Given the description of an element on the screen output the (x, y) to click on. 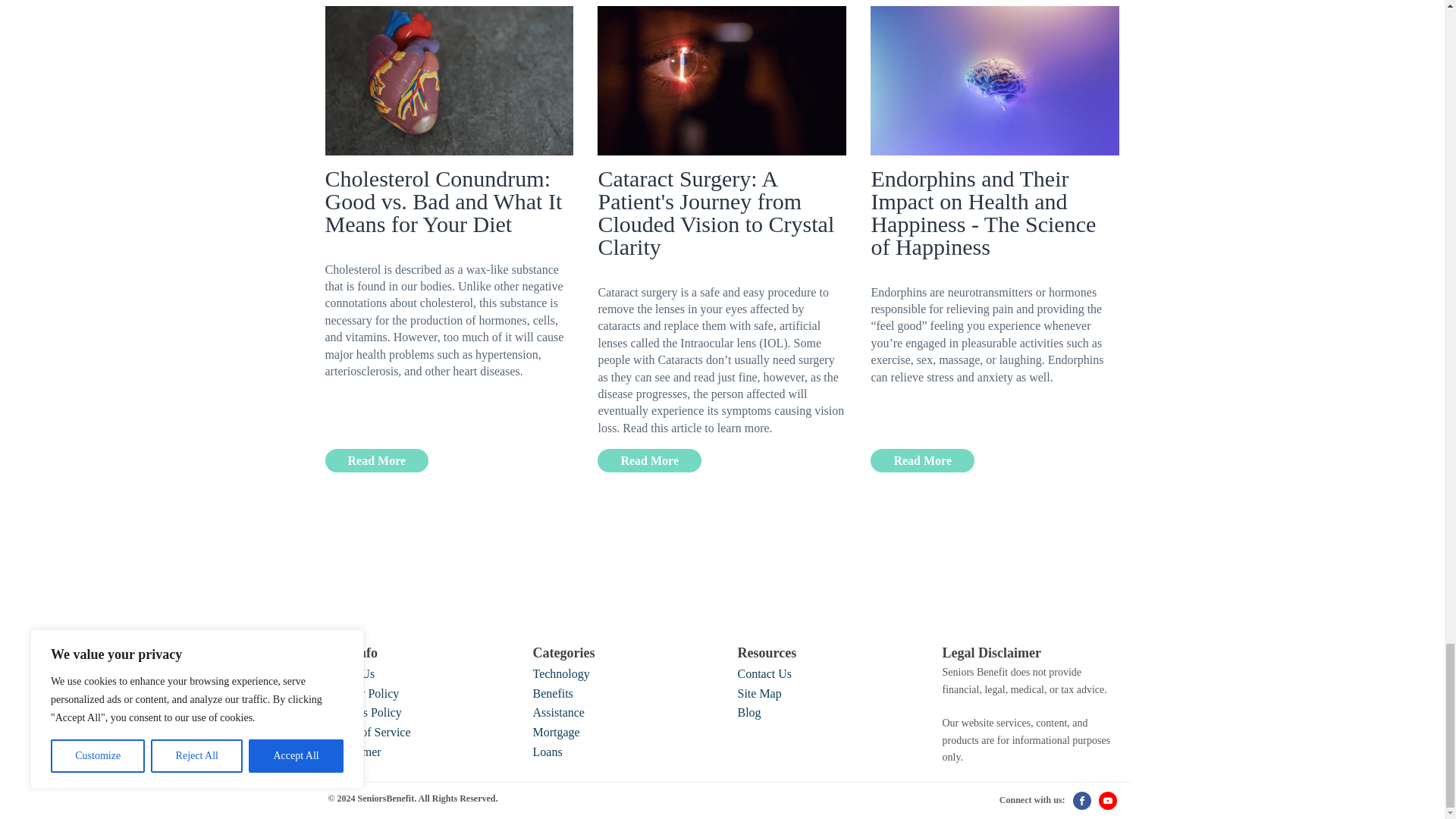
Privacy Policy (362, 693)
Read More (648, 460)
Read More (922, 460)
Read More (376, 460)
Cookies Policy (364, 712)
About Us (350, 673)
